Given the description of an element on the screen output the (x, y) to click on. 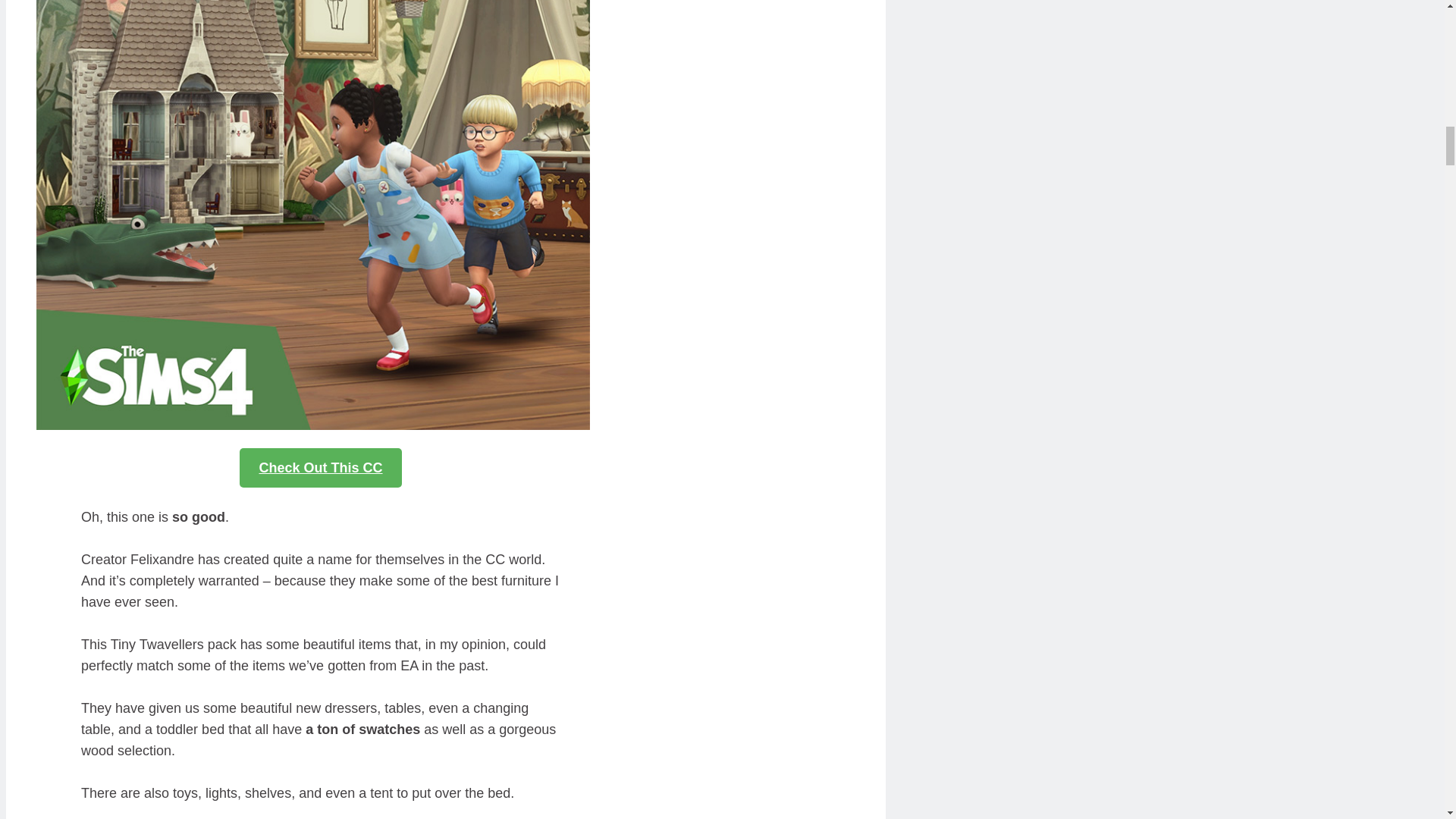
Check Out This CC (320, 467)
